Given the description of an element on the screen output the (x, y) to click on. 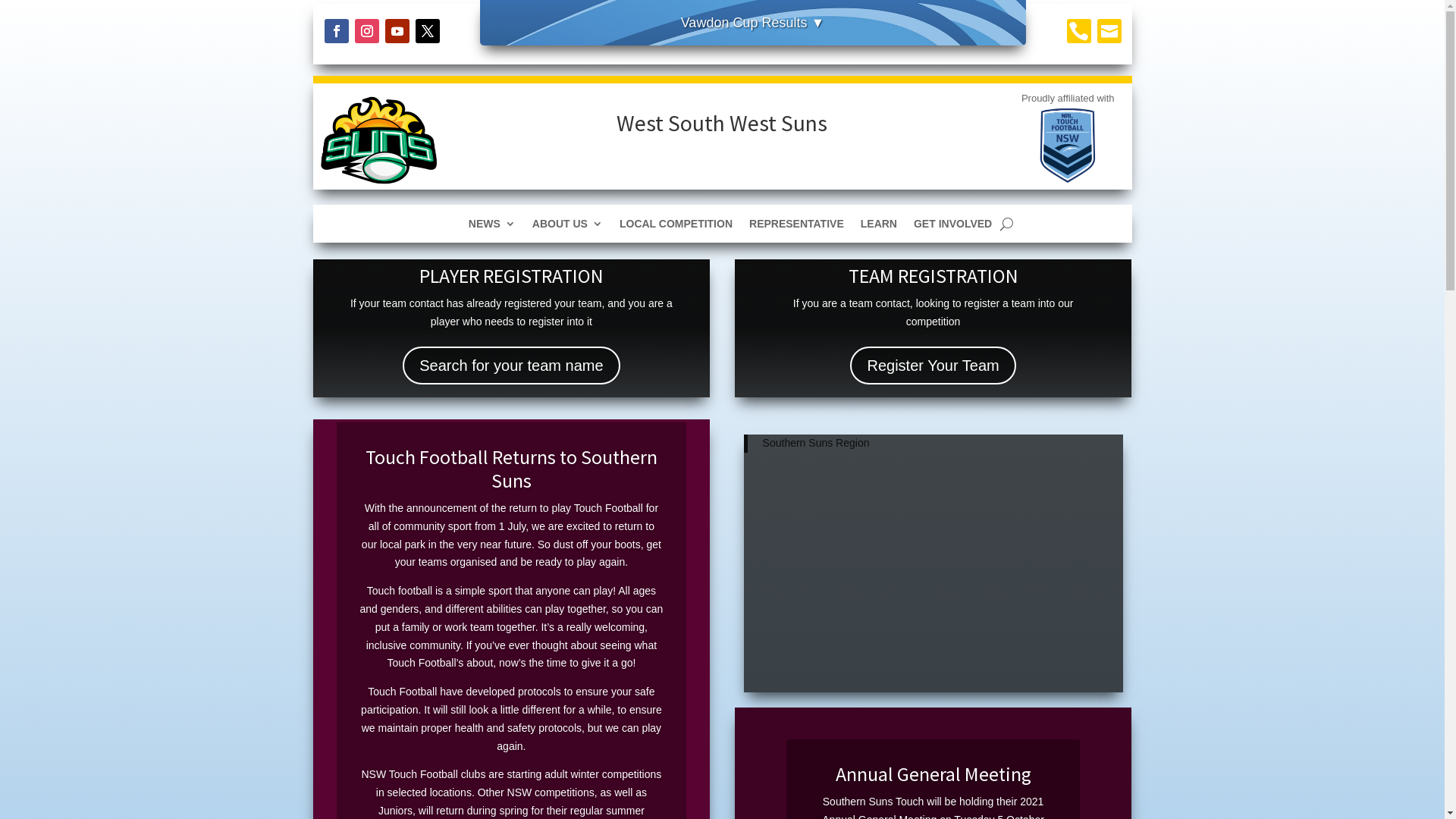
LEARN Element type: text (878, 226)
LOCAL COMPETITION Element type: text (675, 226)
Search Element type: text (24, 13)
GET INVOLVED Element type: text (952, 226)
NEWS Element type: text (491, 226)
Follow on Instagram Element type: hover (366, 30)
Follow on X Element type: hover (427, 30)
Search for your team name Element type: text (510, 365)
Follow on Youtube Element type: hover (397, 30)
suns-logo Element type: hover (378, 139)
Register Your Team Element type: text (932, 365)
Follow on Facebook Element type: hover (336, 30)
ABOUT US Element type: text (567, 226)
REPRESENTATIVE Element type: text (796, 226)
Annual General Meeting Element type: text (933, 773)
Southern Suns Region Element type: text (815, 442)
